Given the description of an element on the screen output the (x, y) to click on. 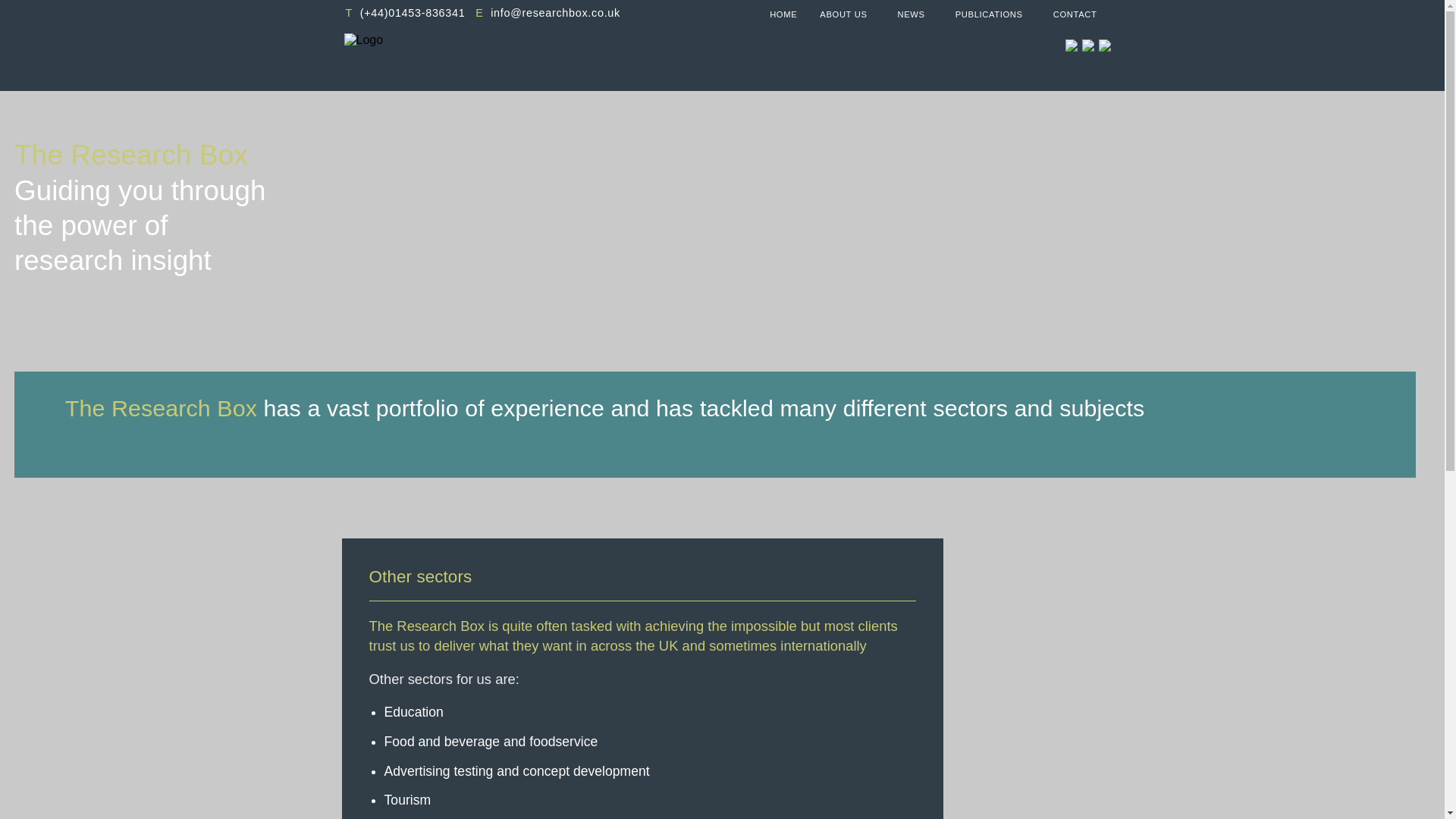
Publications (989, 14)
ABOUT US (842, 14)
Contact (1074, 14)
Home (782, 14)
HOME (782, 14)
About Us (842, 14)
Email Us (555, 12)
News (910, 14)
NEWS (910, 14)
PUBLICATIONS (989, 14)
CONTACT (1074, 14)
